Given the description of an element on the screen output the (x, y) to click on. 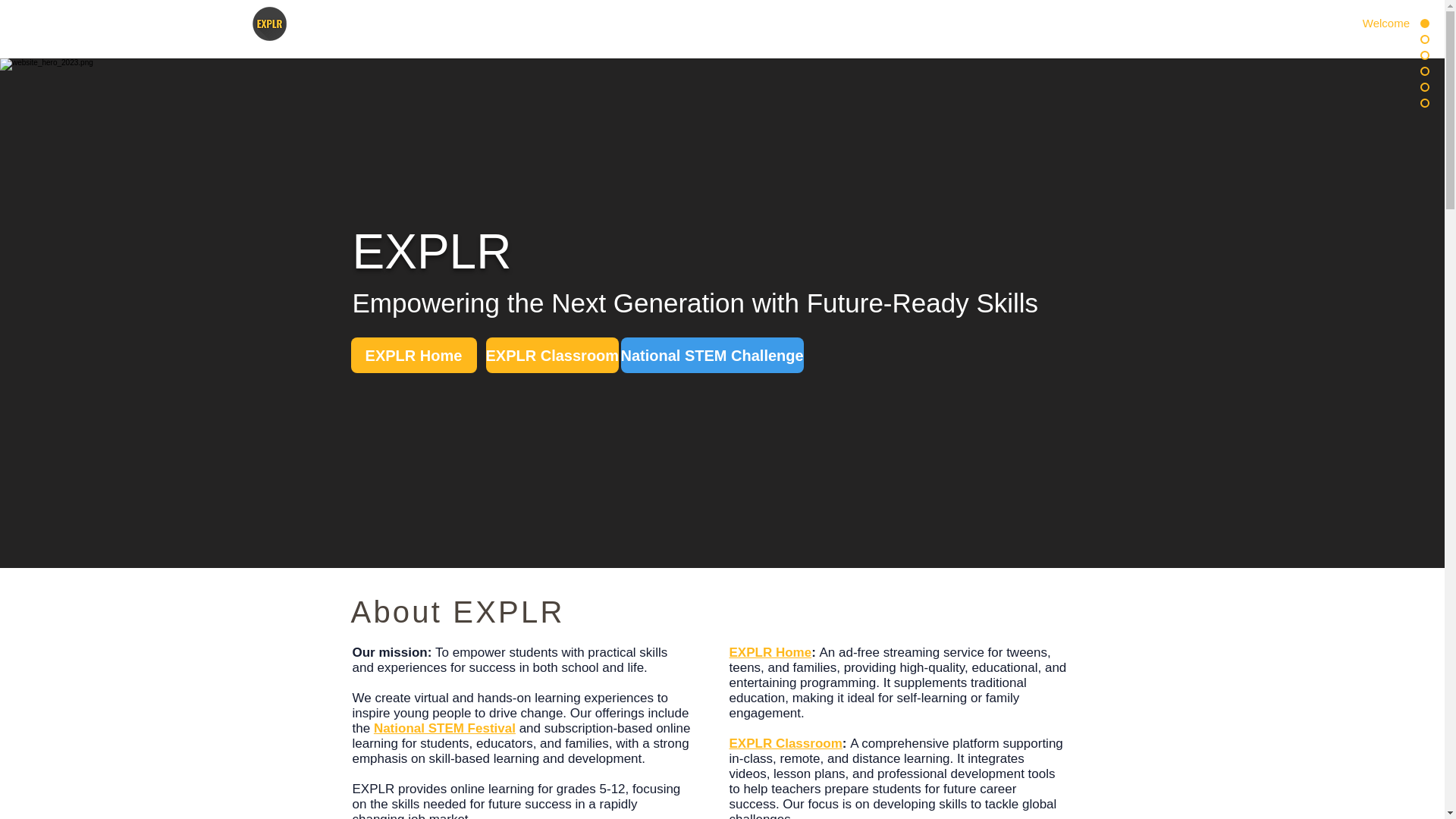
EXPLR Home (413, 355)
Welcome (1373, 23)
EXPLR Classroom (551, 355)
National STEM Festival (444, 728)
National STEM Challenge (711, 355)
EXPLR Home (770, 652)
EXPLR Classroom (786, 743)
